Given the description of an element on the screen output the (x, y) to click on. 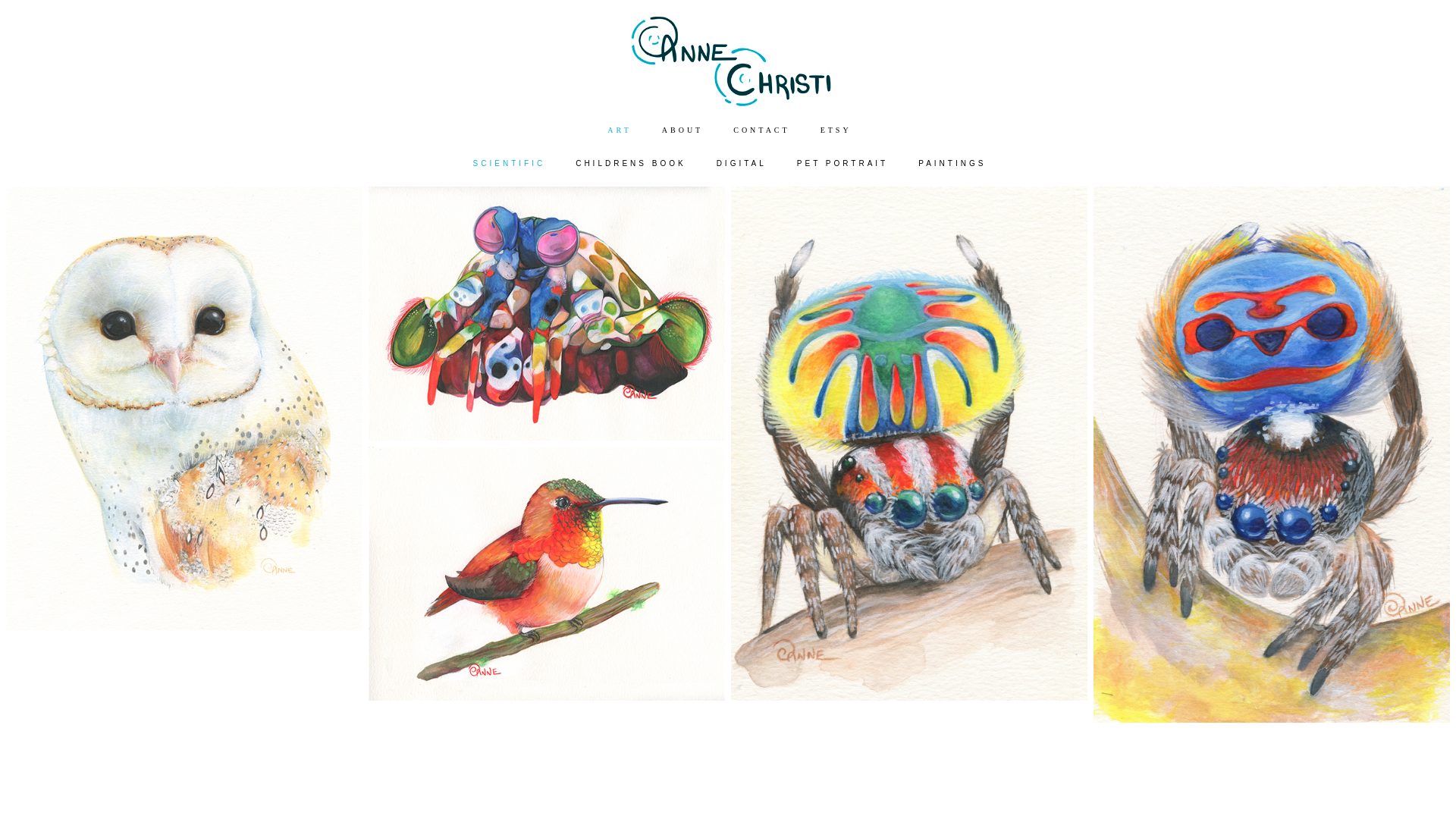
PET PORTRAIT Element type: text (842, 163)
CONTACT Element type: text (761, 130)
DIGITAL Element type: text (741, 163)
SCIENTIFIC Element type: text (509, 163)
CHILDRENS BOOK Element type: text (630, 163)
PAINTINGS Element type: text (951, 163)
ART Element type: text (618, 130)
ETSY Element type: text (835, 130)
ABOUT Element type: text (682, 130)
